Given the description of an element on the screen output the (x, y) to click on. 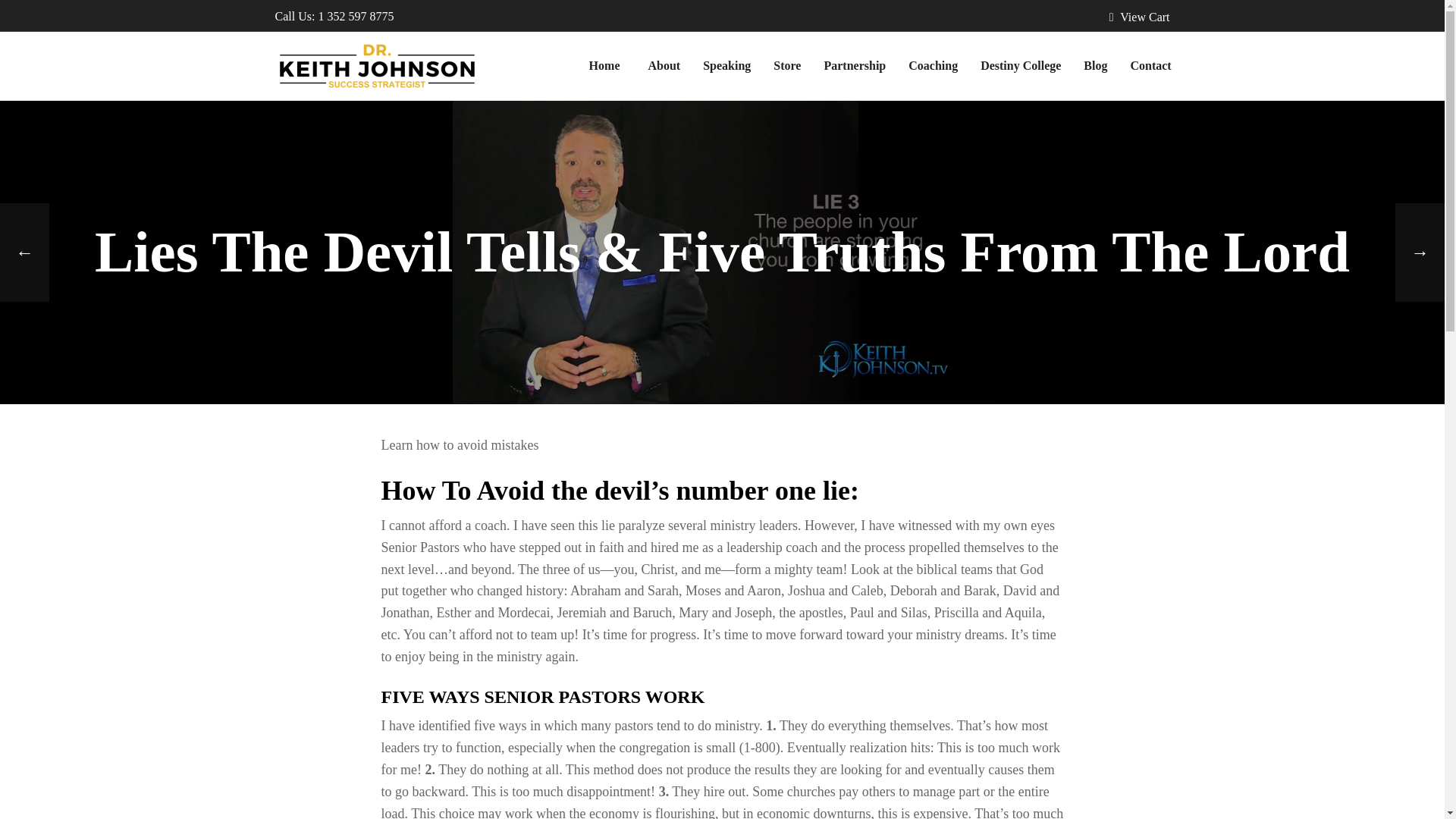
View Cart (1139, 16)
Speaking (727, 65)
Coaching (933, 65)
Destiny College (1020, 65)
Call Us: 1 352 597 8775 (334, 15)
Contact (1149, 65)
Partnership (854, 65)
